Given the description of an element on the screen output the (x, y) to click on. 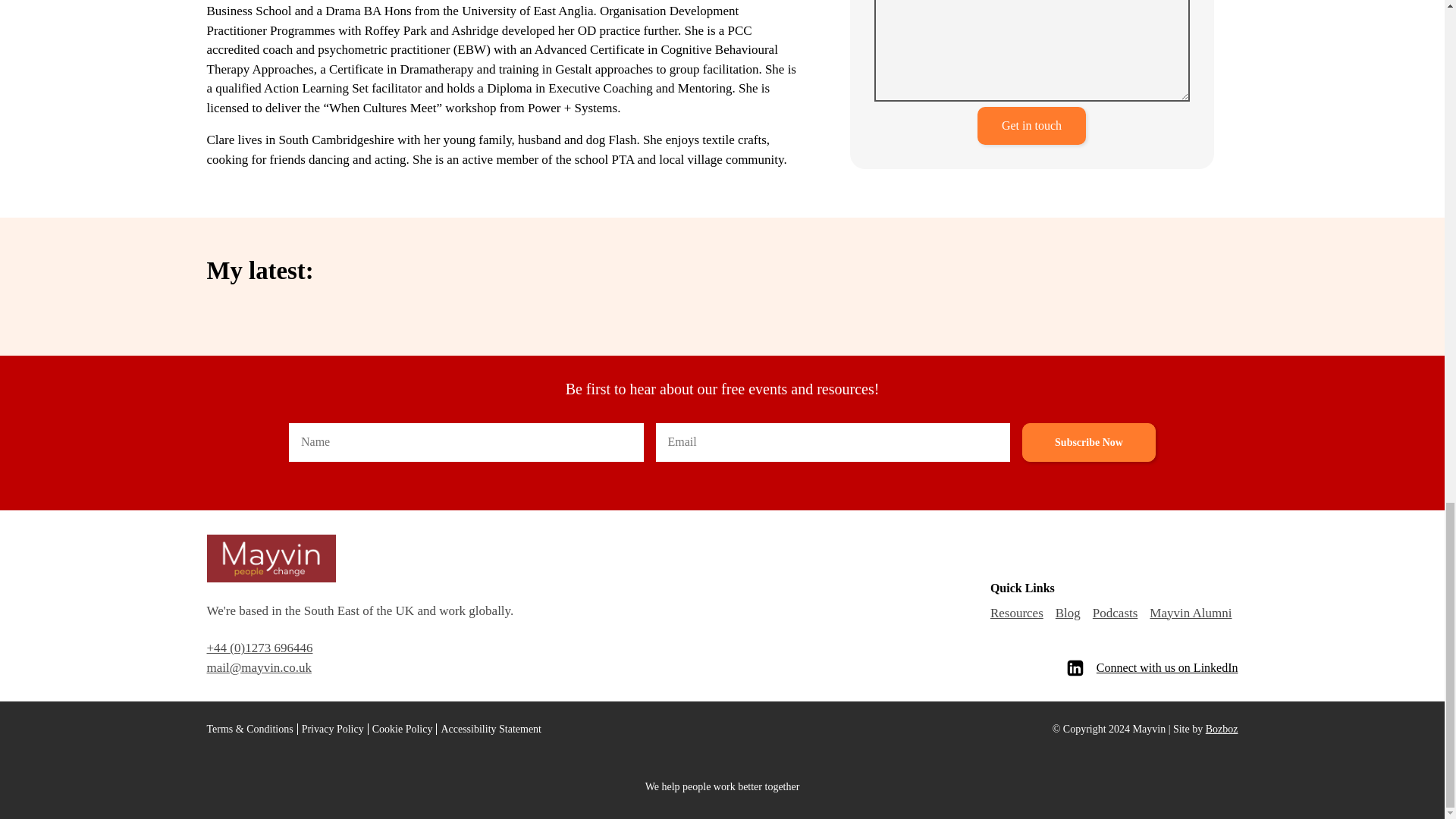
Podcasts (1115, 613)
Resources (1016, 613)
Subscribe Now (1089, 442)
Mayvin Alumni (1189, 613)
Blog (1067, 613)
